Given the description of an element on the screen output the (x, y) to click on. 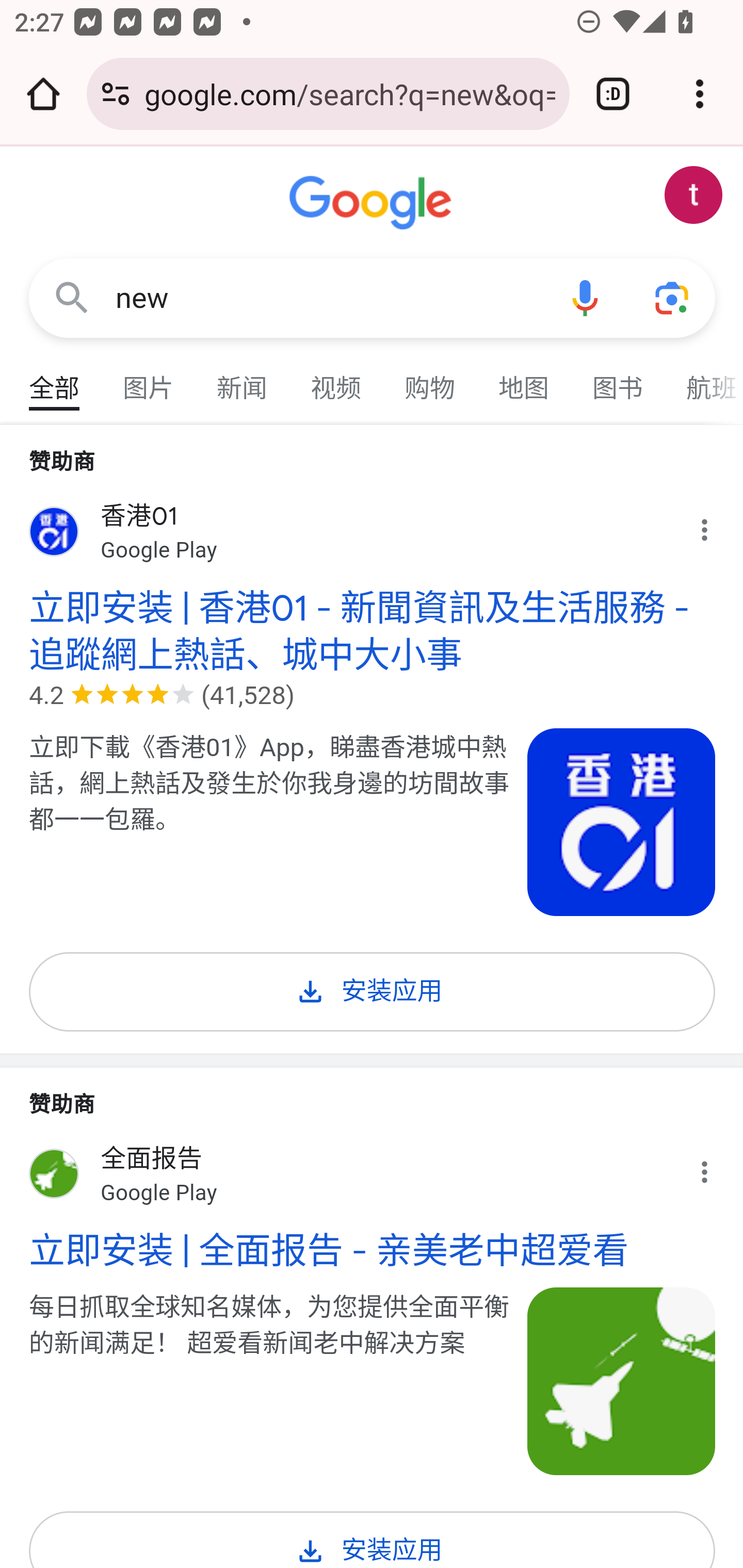
Open the home page (43, 93)
Connection is secure (115, 93)
Switch or close tabs (612, 93)
Customize and control Google Chrome (699, 93)
Google (372, 203)
Google 账号： test appium (testappium002@gmail.com) (694, 195)
Google 搜索 (71, 296)
使用拍照功能或照片进行搜索 (672, 296)
new (328, 297)
图片 (148, 378)
新闻 (242, 378)
视频 (336, 378)
购物 (430, 378)
地图 (524, 378)
图书 (618, 378)
航班 (703, 378)
为什么会显示该广告？ (714, 525)
立即安装 | 香港01 - 新聞資訊及生活服務 - 追蹤網上熱話、城中大小事 (372, 631)
图片来自 google.com (621, 822)
安装应用 (372, 988)
为什么会显示该广告？ (714, 1166)
立即安装 | 全面报告 - 亲美老中超爱看 (372, 1251)
图片来自 google.com (621, 1382)
安装应用 (372, 1538)
